Given the description of an element on the screen output the (x, y) to click on. 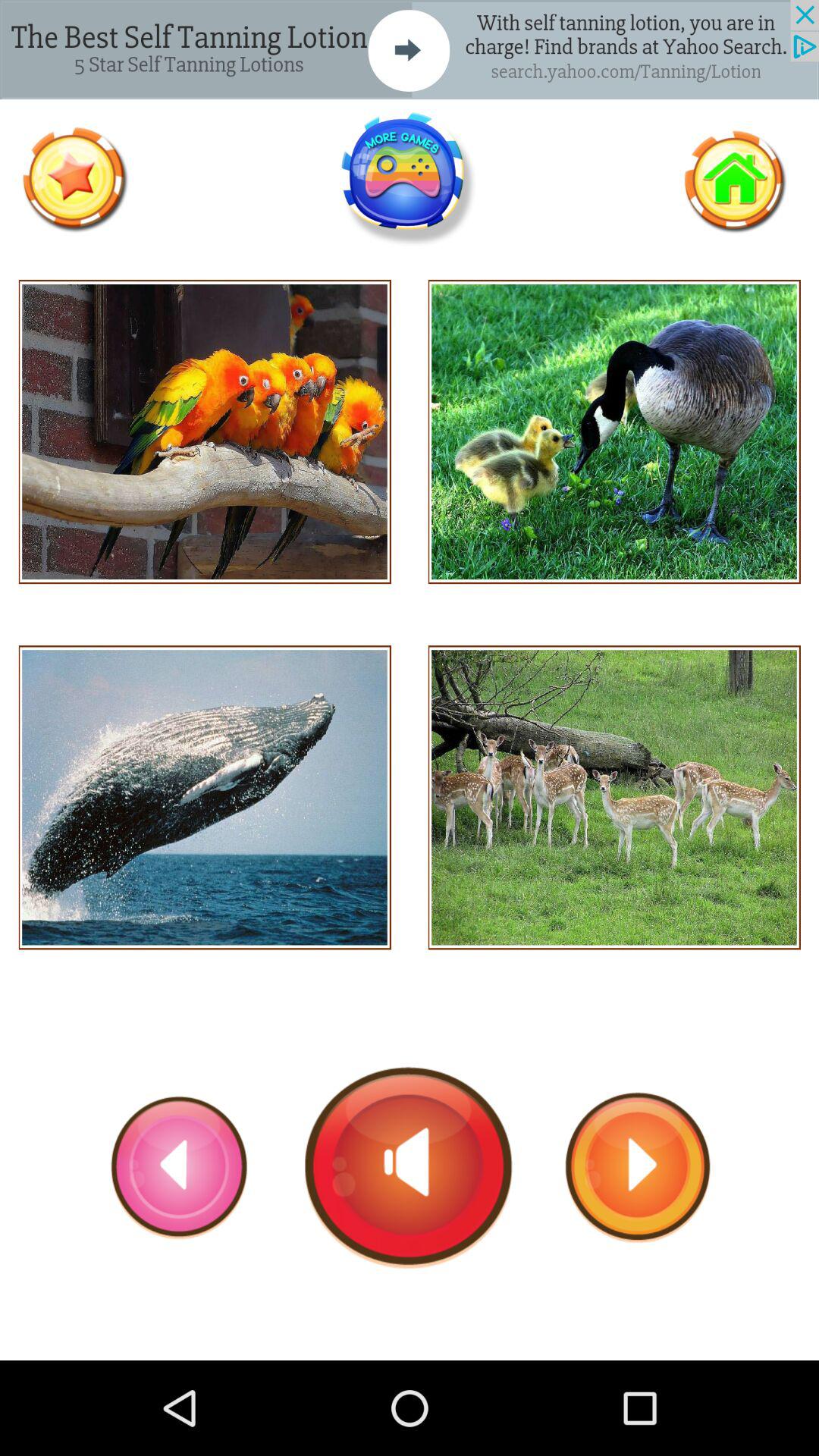
ducks (614, 431)
